Given the description of an element on the screen output the (x, y) to click on. 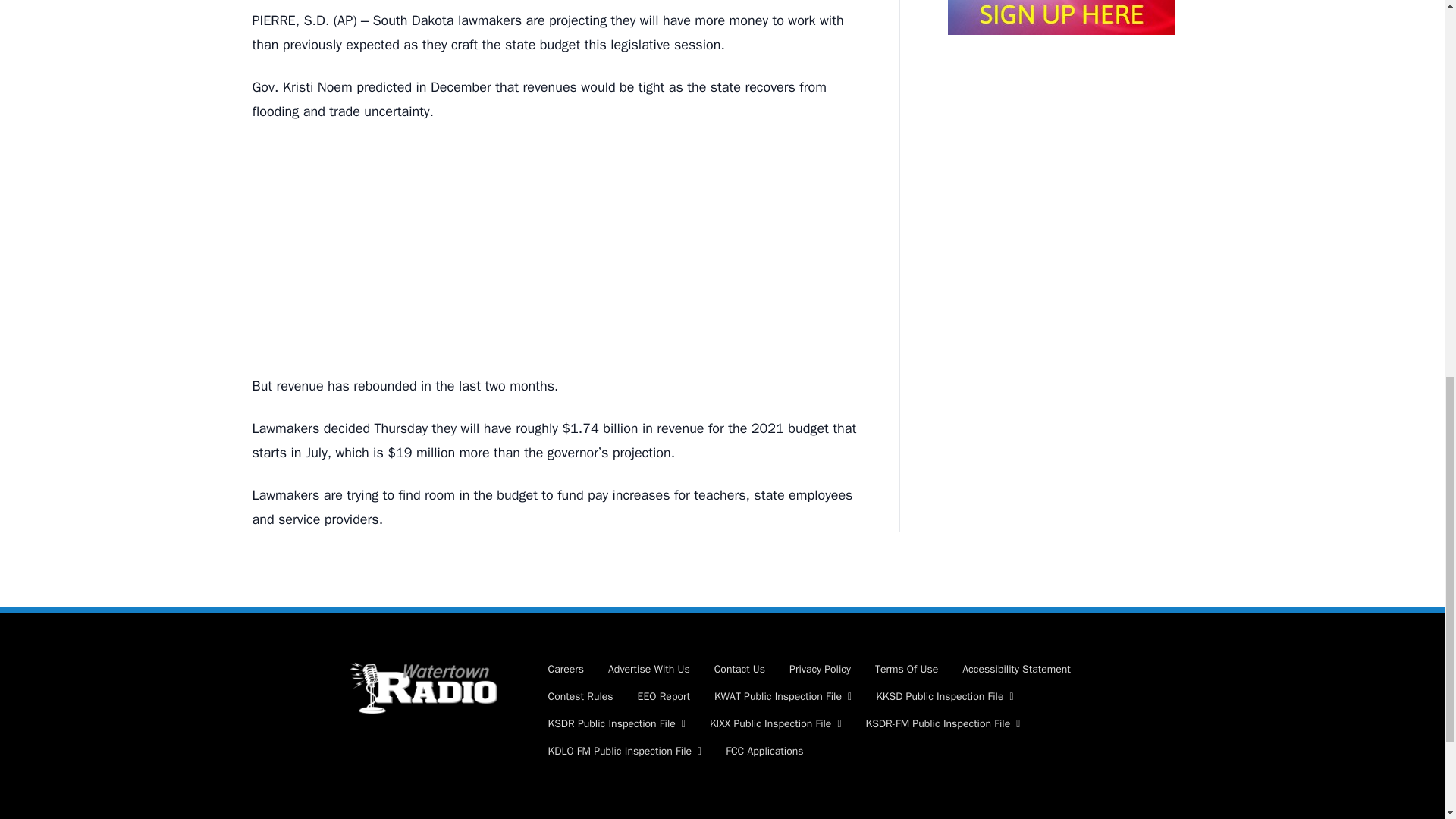
3rd party ad content (560, 248)
